Given the description of an element on the screen output the (x, y) to click on. 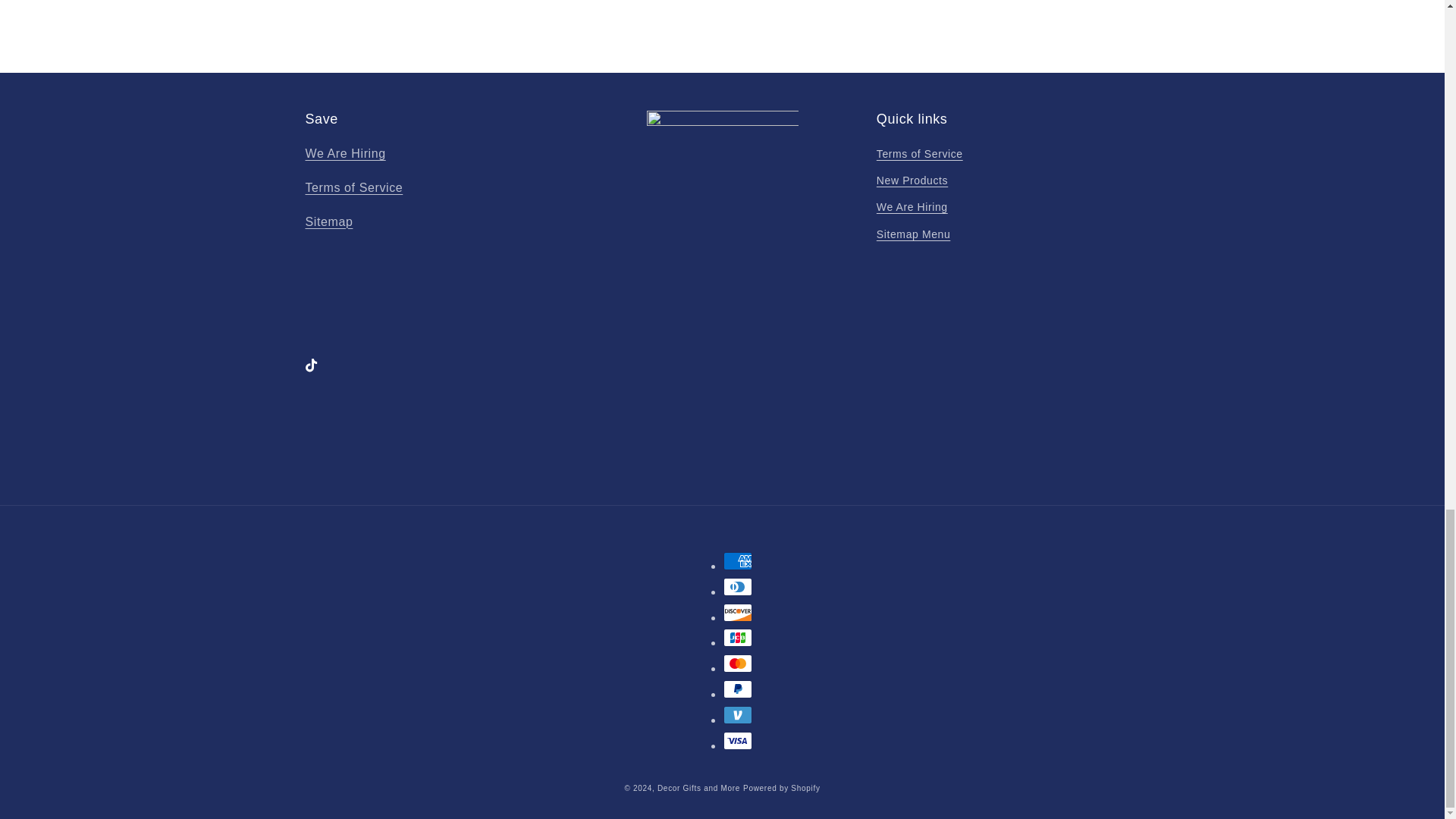
PayPal (737, 689)
Discover (737, 612)
Mastercard (737, 663)
Venmo (737, 714)
American Express (737, 561)
JCB (737, 637)
Diners Club (737, 587)
Visa (737, 741)
